Given the description of an element on the screen output the (x, y) to click on. 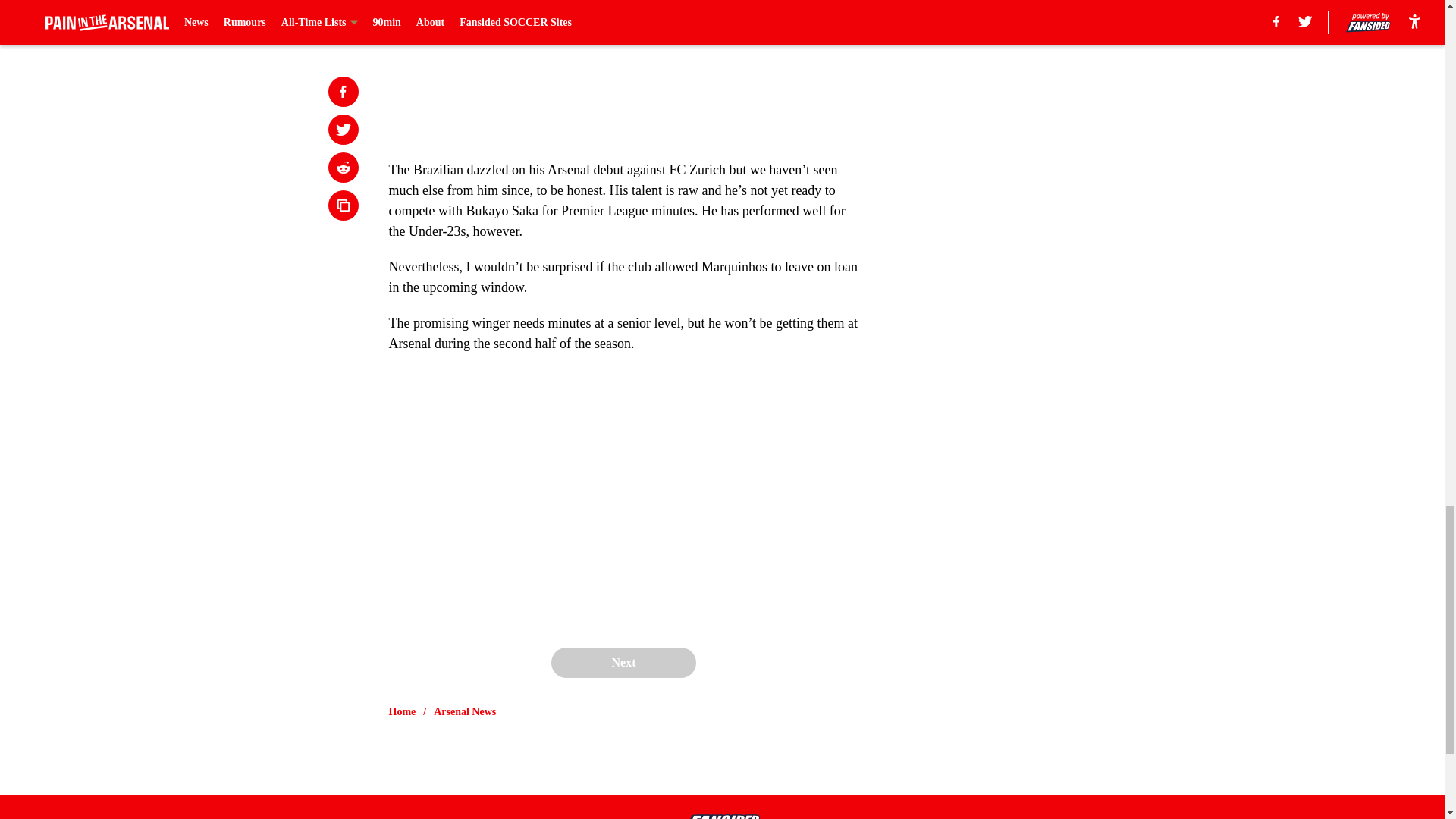
Home (401, 711)
Next (622, 662)
Arsenal News (464, 711)
